Given the description of an element on the screen output the (x, y) to click on. 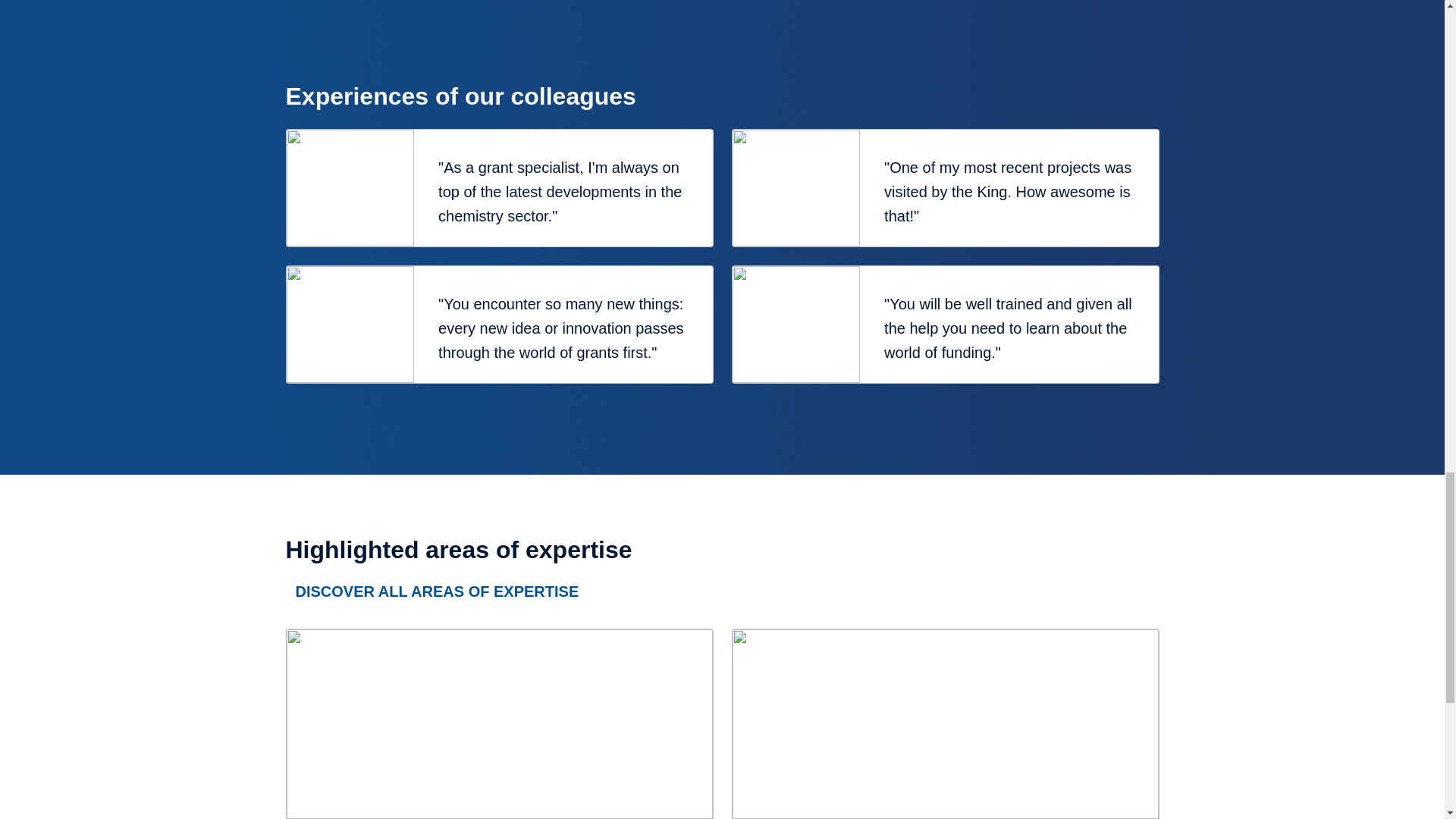
DISCOVER ALL AREAS OF EXPERTISE (436, 591)
